Given the description of an element on the screen output the (x, y) to click on. 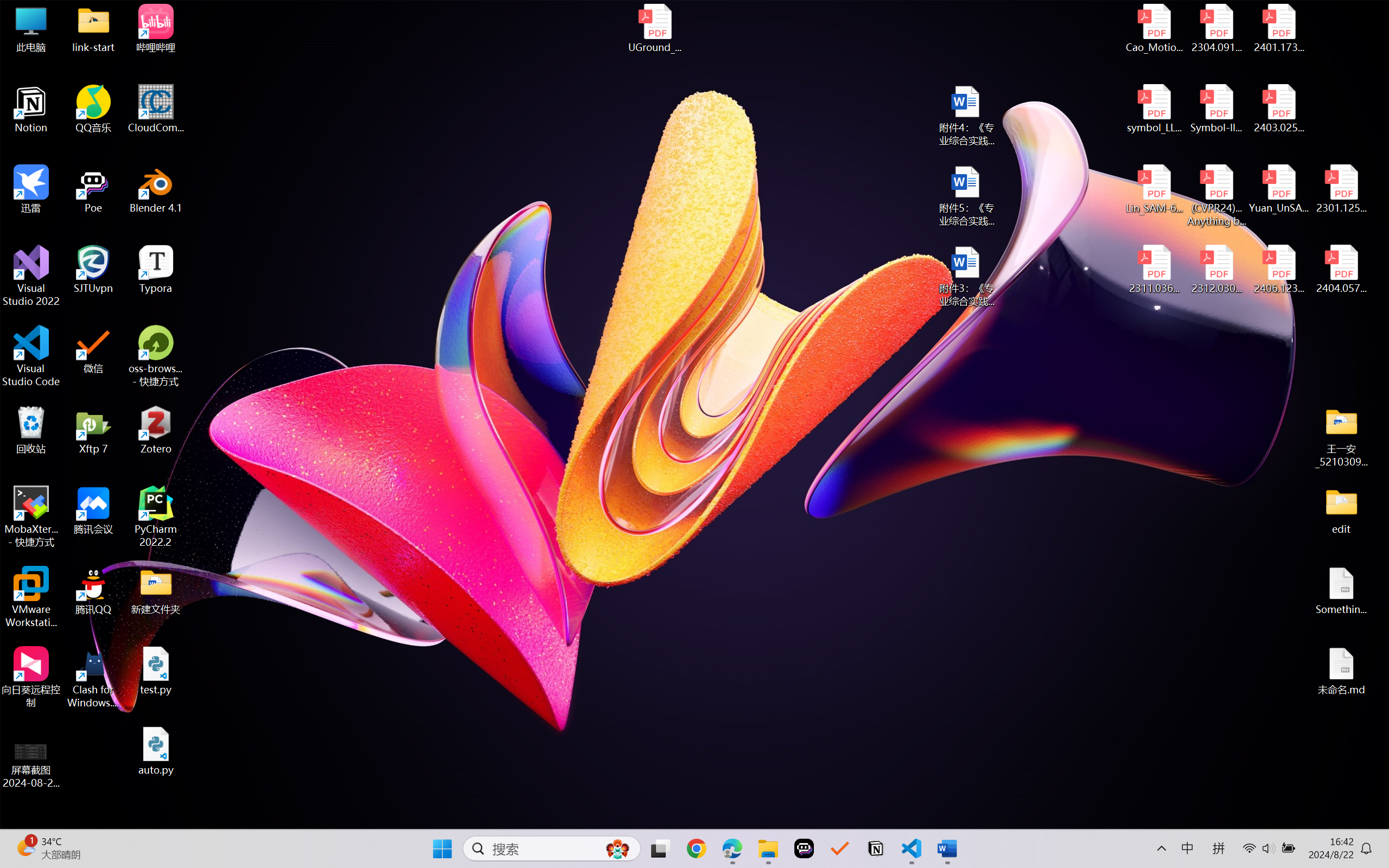
Something.md (1340, 591)
Visual Studio 2022 (31, 276)
2312.03032v2.pdf (1216, 269)
2304.09121v3.pdf (1216, 28)
Typora (156, 269)
2406.12373v2.pdf (1278, 269)
